Given the description of an element on the screen output the (x, y) to click on. 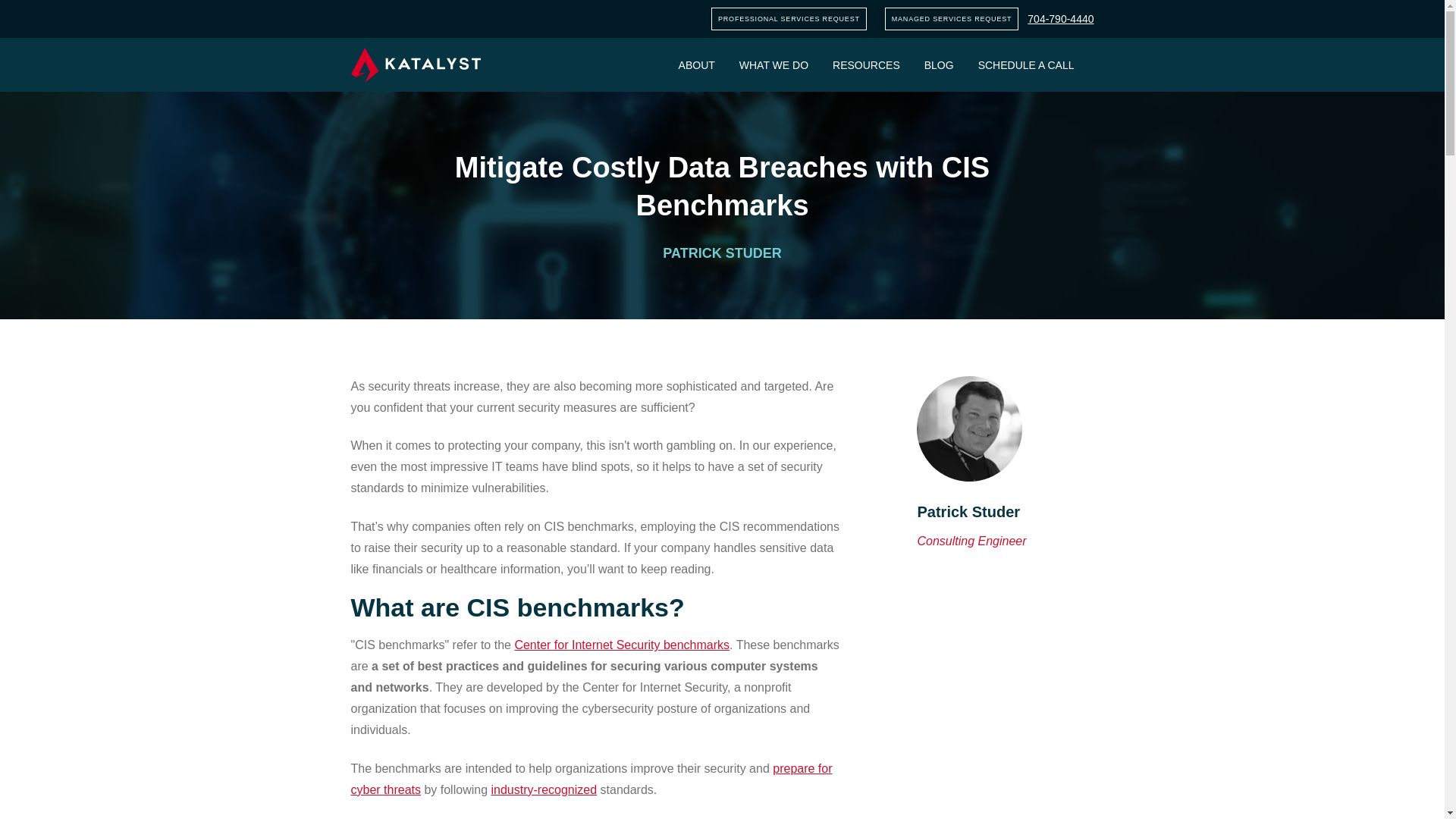
MANAGED SERVICES REQUEST (952, 18)
BLOG (938, 64)
prepare for cyber threats (590, 779)
Center for Internet Security benchmarks (621, 644)
704-790-4440 (1060, 19)
WHAT WE DO (773, 64)
ABOUT (696, 64)
industry-recognized (543, 789)
SCHEDULE A CALL (1026, 64)
PROFESSIONAL SERVICES REQUEST (788, 18)
